Given the description of an element on the screen output the (x, y) to click on. 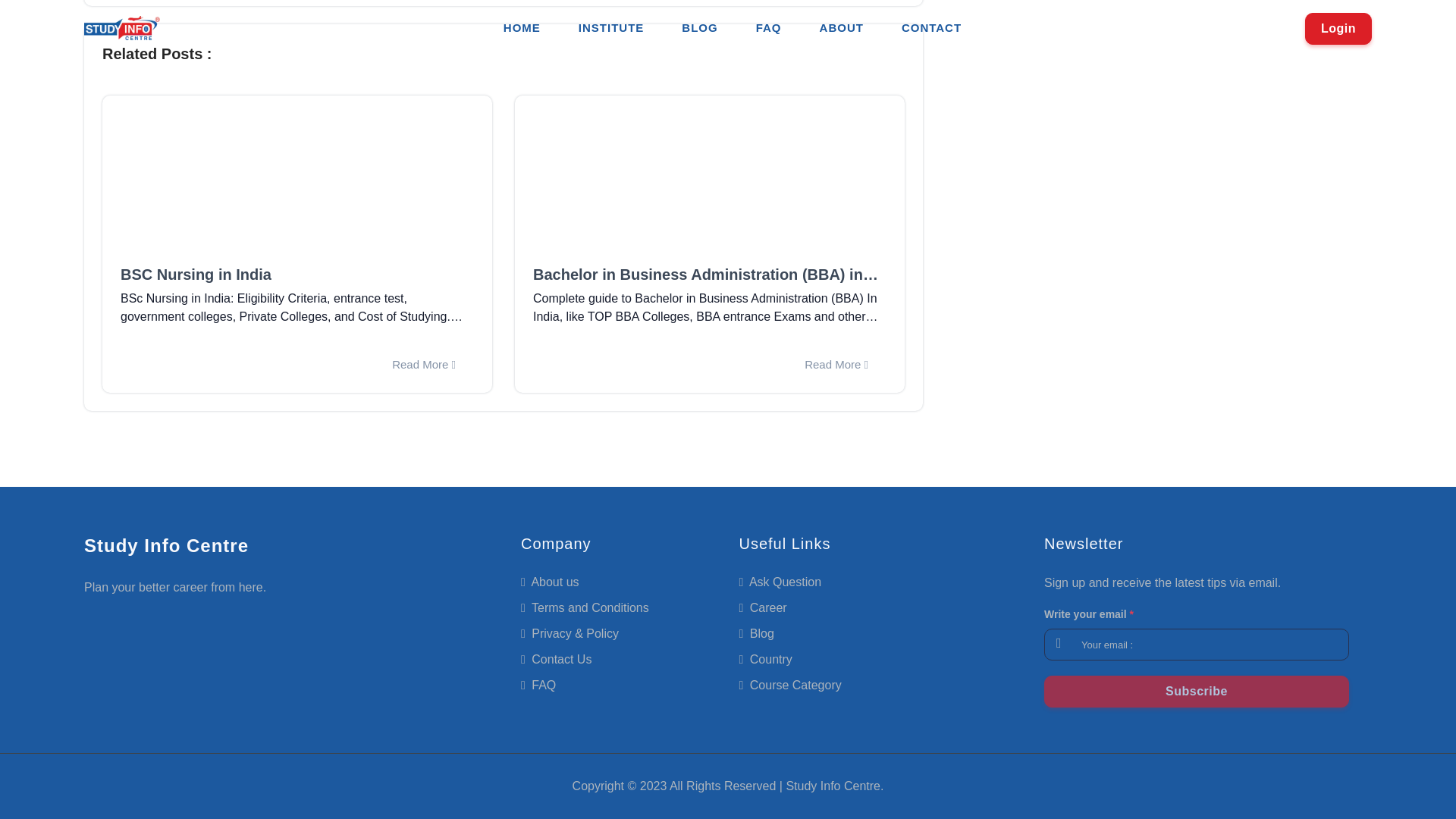
BSC Nursing in India (297, 274)
Country (765, 658)
Study Info Centre (166, 545)
Ask Question (779, 581)
Read More (423, 364)
Subscribe (1196, 691)
Terms and Conditions (585, 607)
Blog (755, 633)
Course Category (789, 684)
Career (762, 607)
About us (550, 581)
Subscribe (1196, 691)
Read More (836, 364)
Contact Us (556, 658)
FAQ (538, 684)
